Given the description of an element on the screen output the (x, y) to click on. 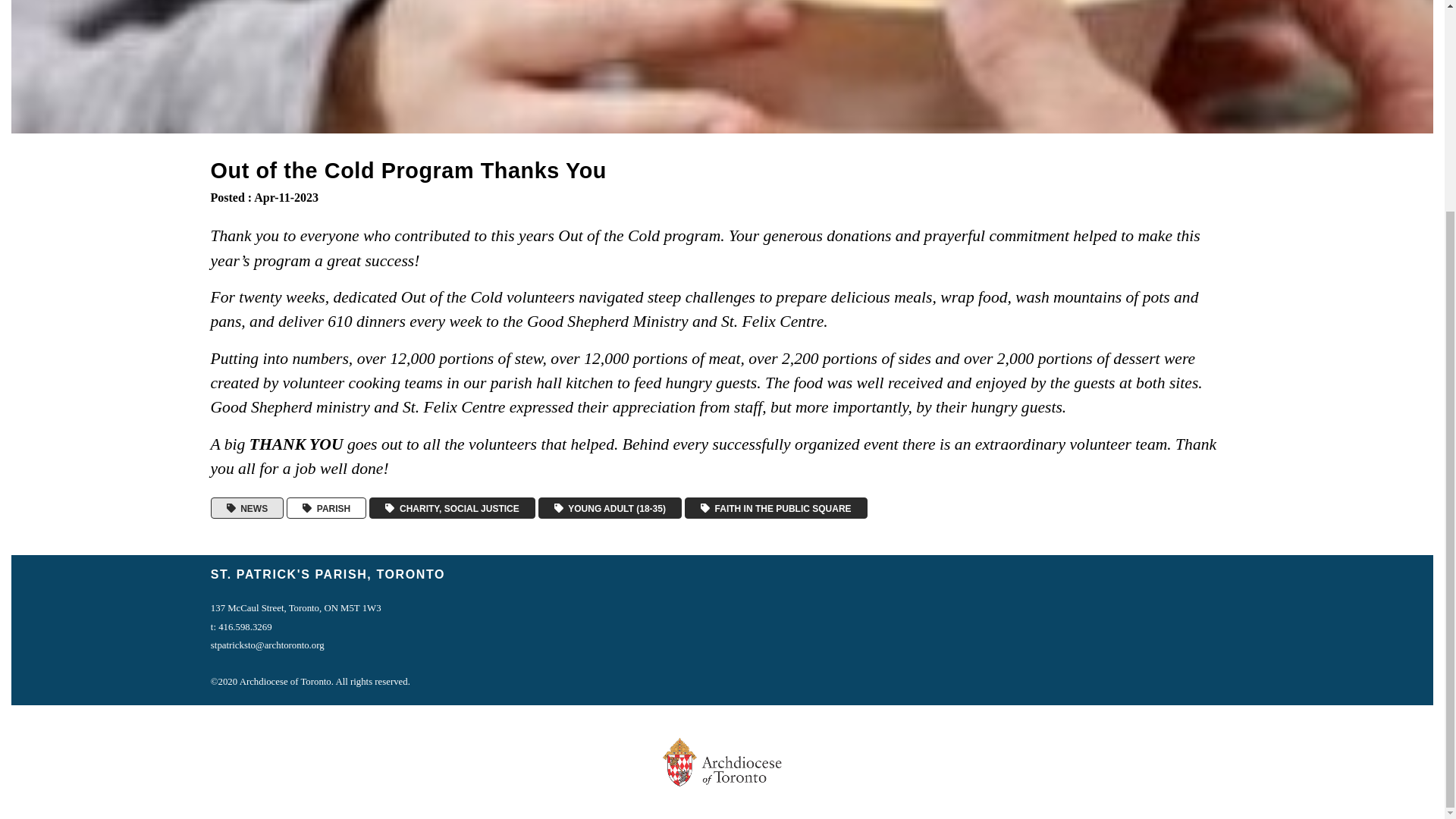
Archdiocese of Toronto (722, 761)
Contact us by phone (241, 626)
Get directions (296, 607)
Faith in the public square (775, 508)
Contact us by email (267, 644)
News (247, 508)
Charity, Social Justice (451, 508)
